Given the description of an element on the screen output the (x, y) to click on. 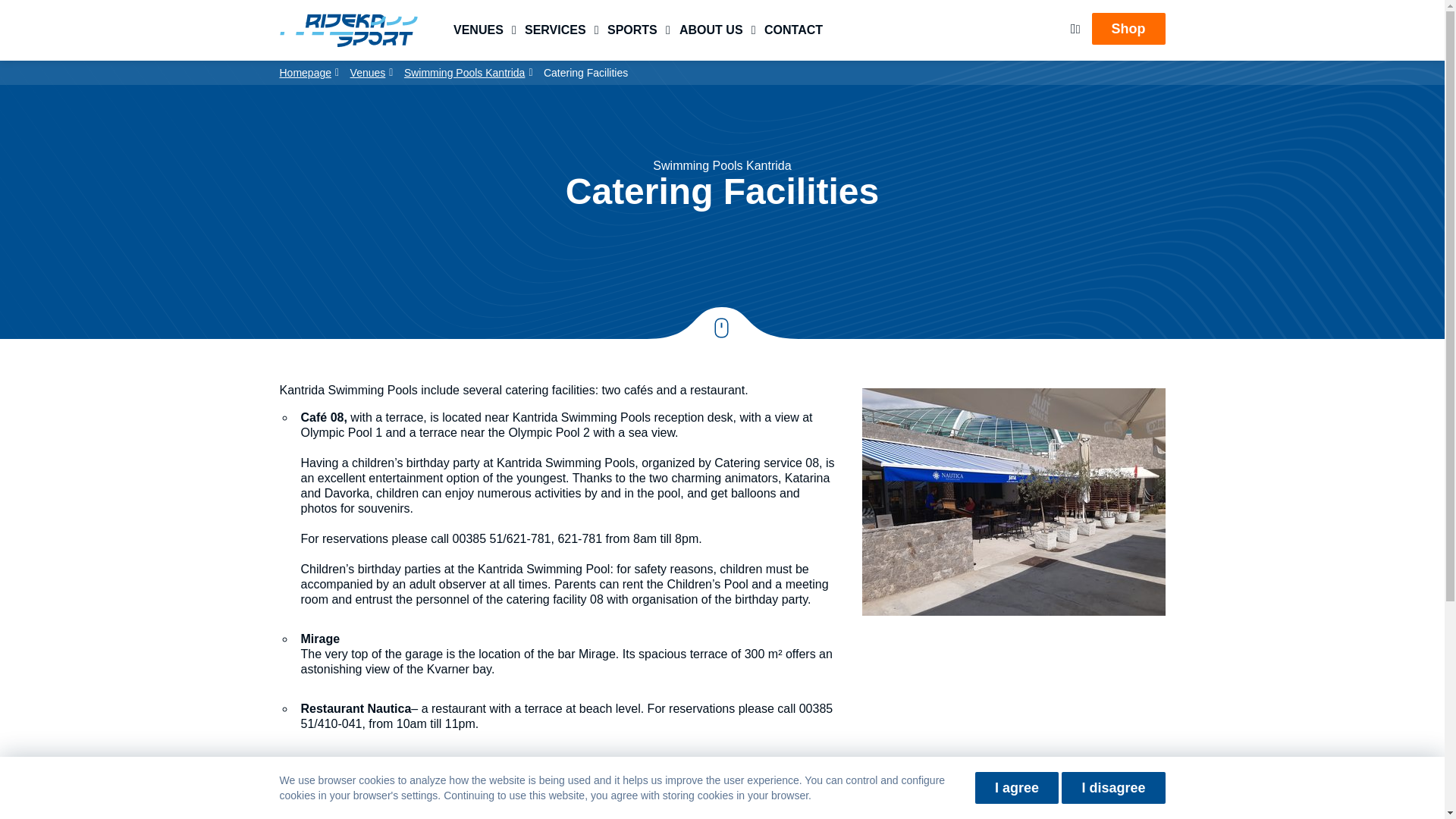
SERVICES (555, 31)
SPORTS (632, 31)
VENUES (478, 31)
